Given the description of an element on the screen output the (x, y) to click on. 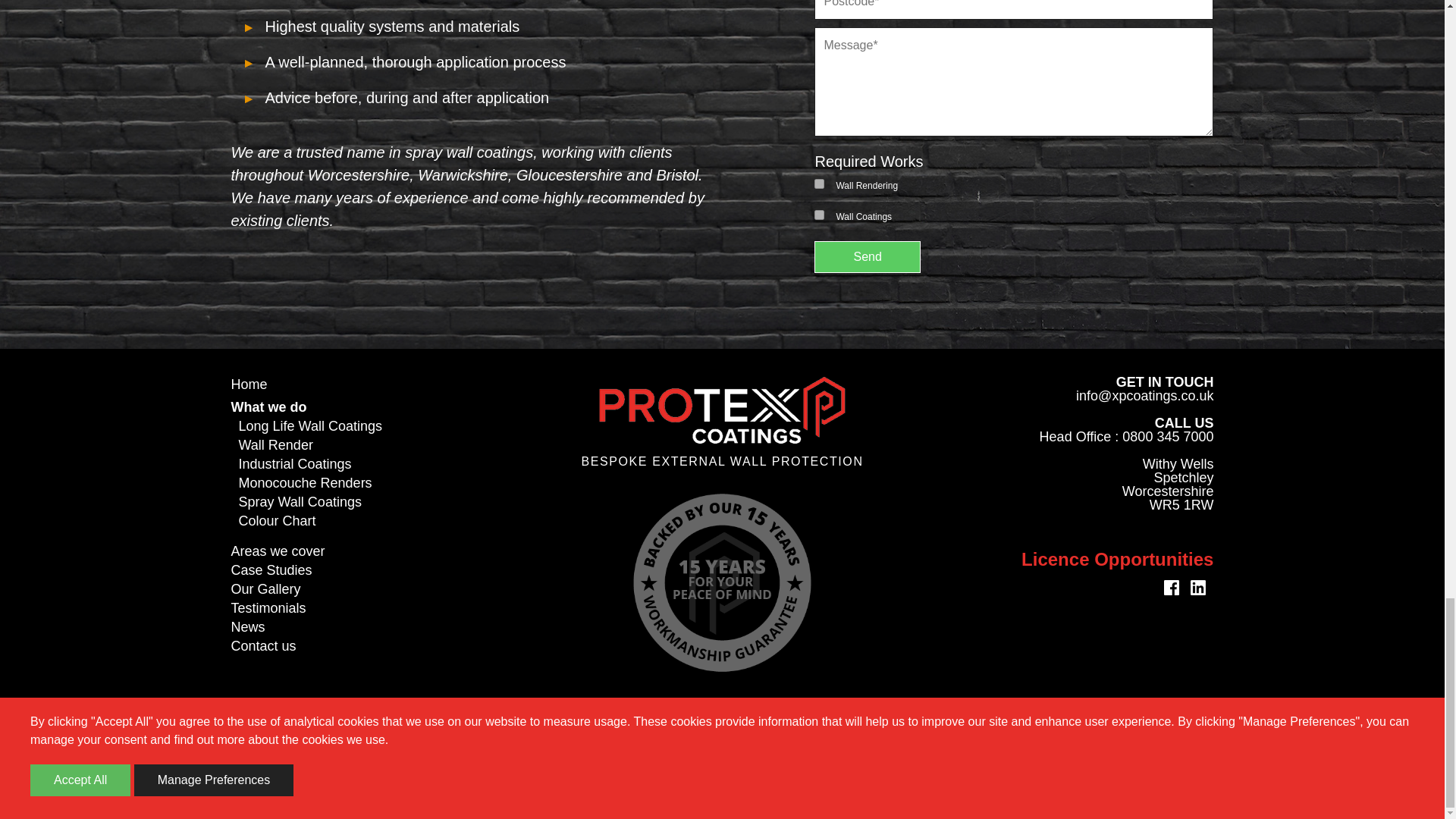
Send (866, 256)
facebook (1174, 586)
Long Life Wall Coatings (309, 426)
Wall Coatings (818, 214)
Send (866, 256)
Wall Rendering (818, 184)
Home (249, 384)
Wall Render (275, 444)
linkedin (1201, 586)
